Given the description of an element on the screen output the (x, y) to click on. 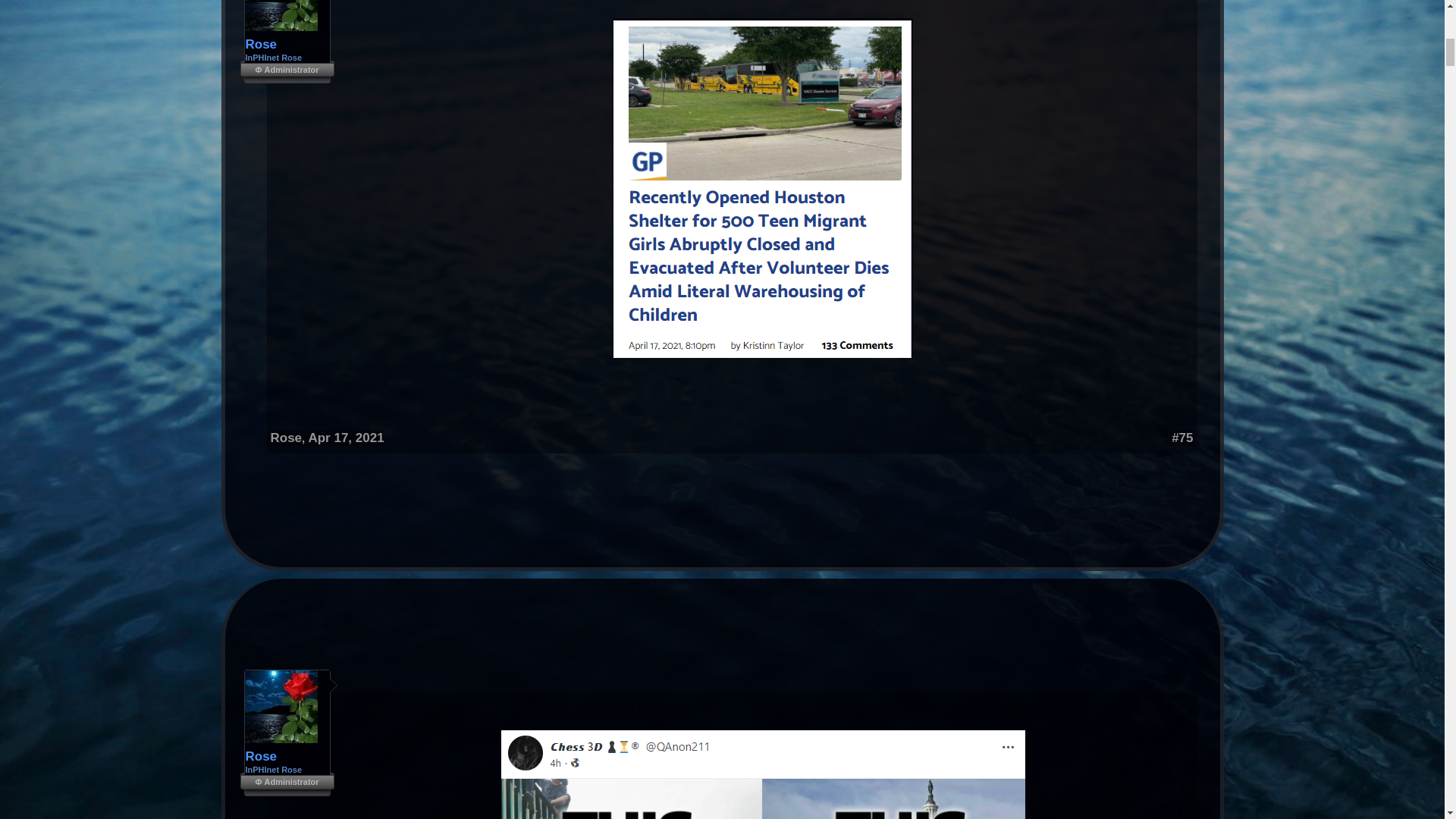
Rose (287, 44)
Permalink (345, 437)
Apr 17, 2021 (345, 437)
Permalink (1182, 437)
Rose (285, 437)
